Given the description of an element on the screen output the (x, y) to click on. 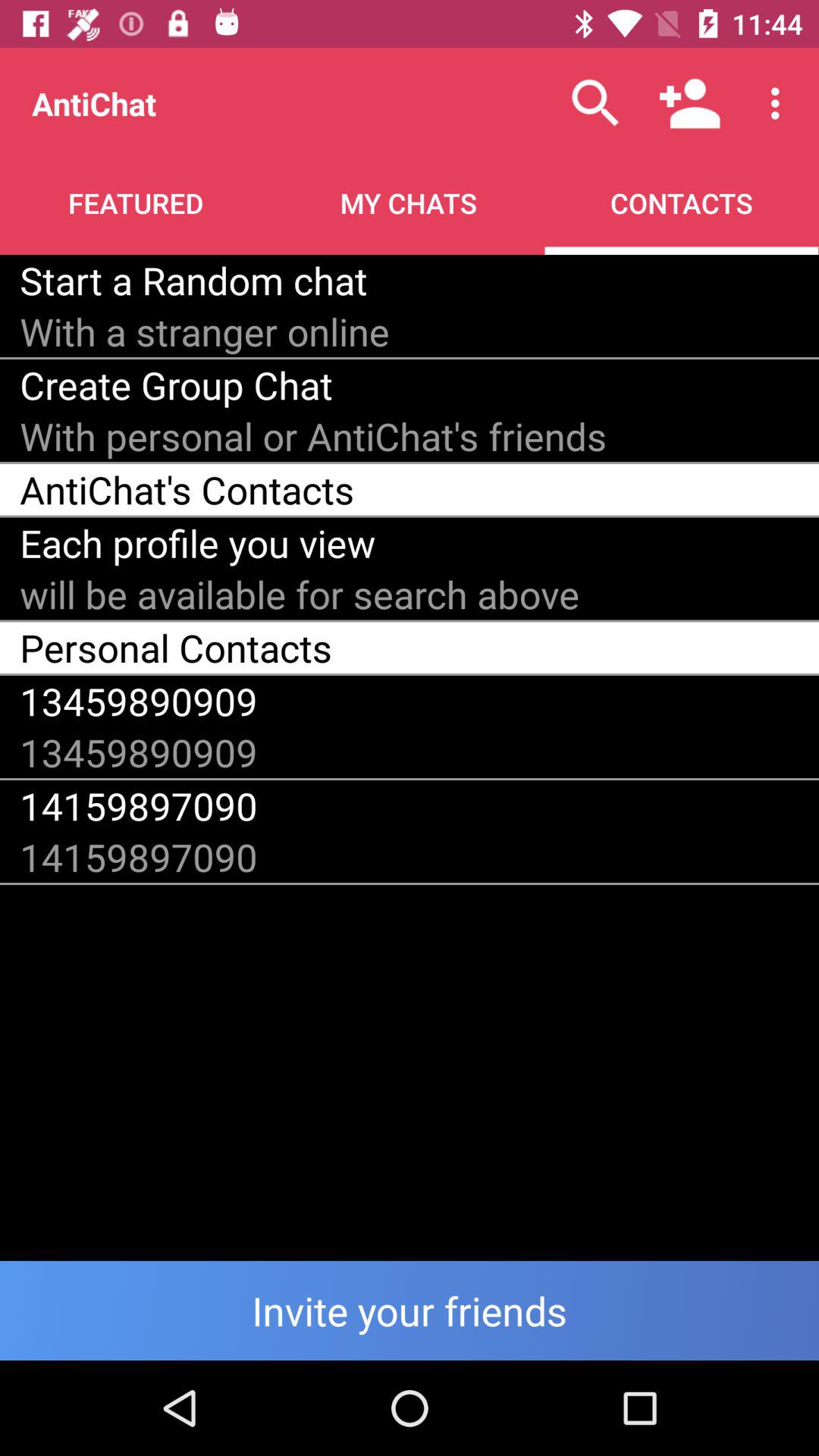
turn on create group chat icon (175, 384)
